Given the description of an element on the screen output the (x, y) to click on. 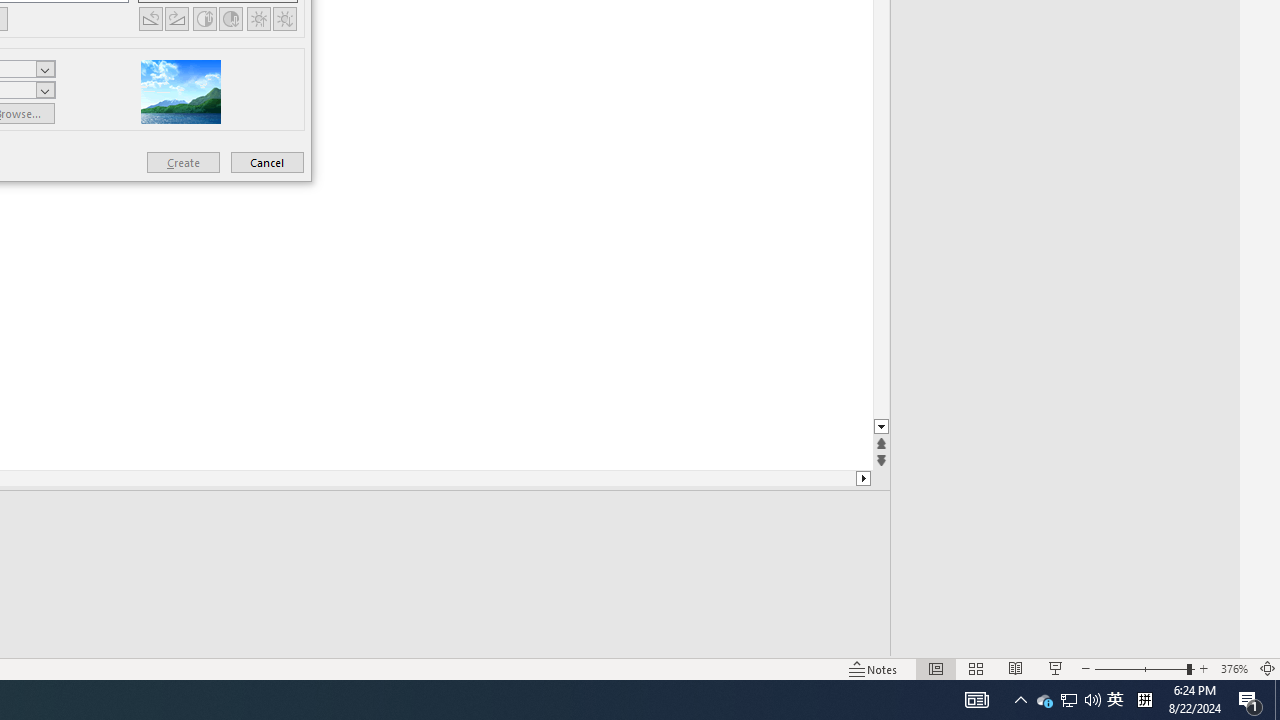
More Contrast (204, 18)
Create (183, 162)
More Brightness (258, 18)
Less Brightness (284, 18)
